Given the description of an element on the screen output the (x, y) to click on. 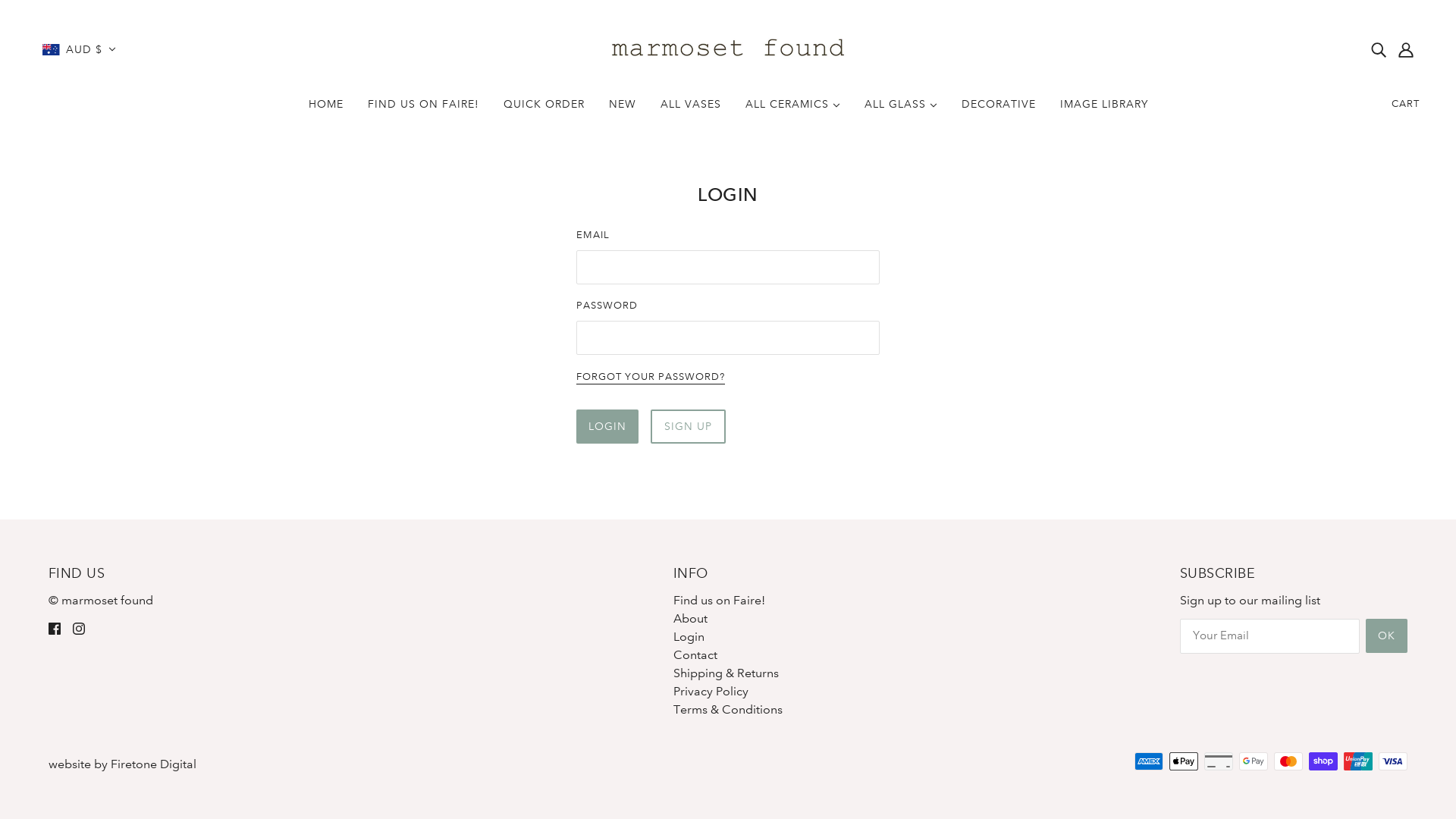
Privacy Policy Element type: text (710, 691)
FORGOT YOUR PASSWORD? Element type: text (650, 378)
Shipping & Returns Element type: text (725, 672)
website by Firetone Digital Element type: text (122, 763)
Login Element type: text (688, 636)
LOGIN Element type: text (607, 426)
Marmoset Found Element type: hover (727, 47)
About Element type: text (690, 618)
Terms & Conditions Element type: text (727, 709)
DECORATIVE Element type: text (998, 109)
OK Element type: text (1386, 635)
HOME Element type: text (324, 109)
CART Element type: text (1405, 103)
ALL GLASS Element type: text (900, 109)
IMAGE LIBRARY Element type: text (1104, 109)
SIGN UP Element type: text (687, 426)
QUICK ORDER Element type: text (543, 109)
Find us on Faire! Element type: text (719, 600)
NEW Element type: text (621, 109)
FIND US ON FAIRE! Element type: text (422, 109)
ALL CERAMICS Element type: text (791, 109)
Contact Element type: text (695, 654)
ALL VASES Element type: text (689, 109)
